Given the description of an element on the screen output the (x, y) to click on. 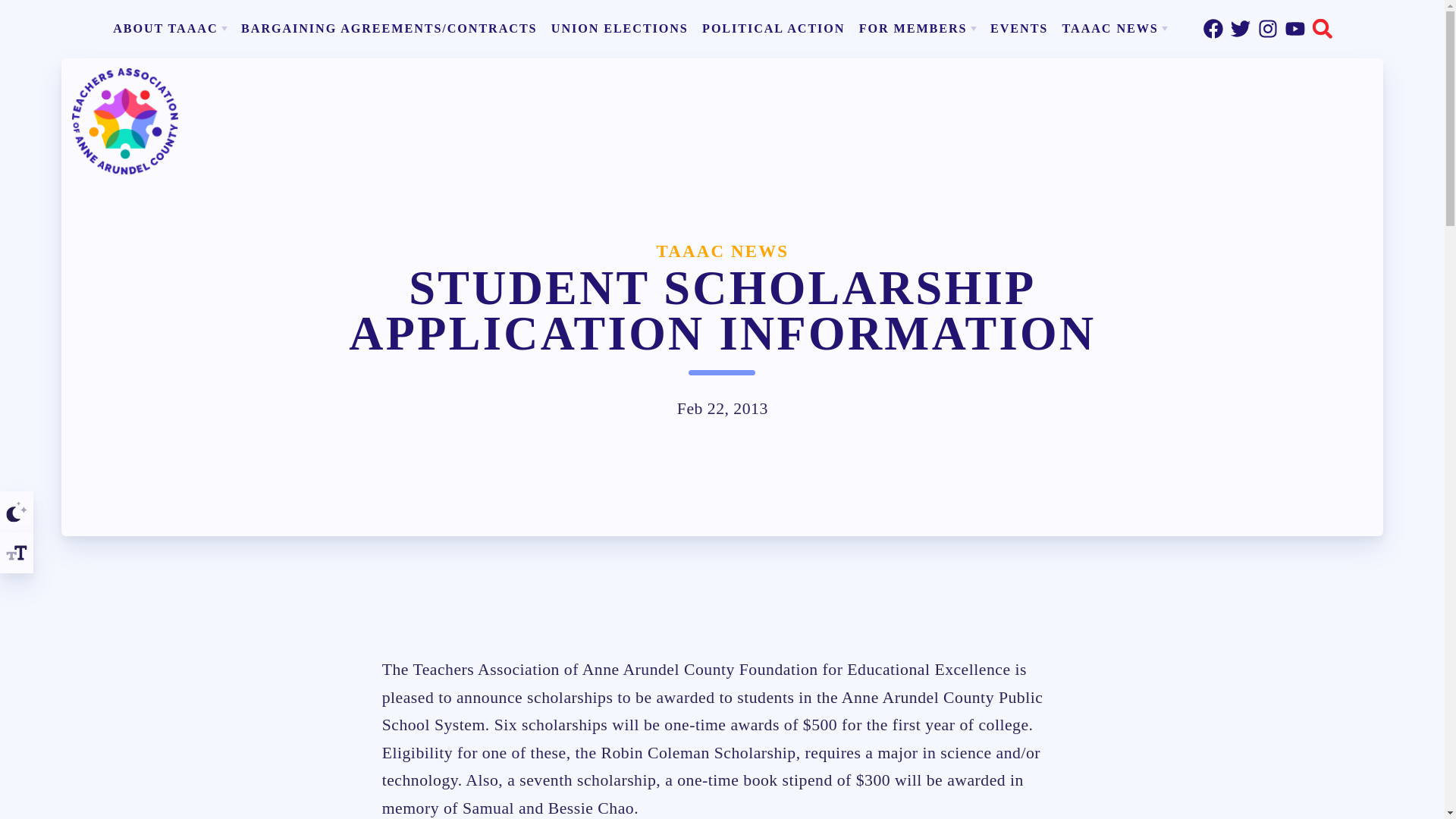
UNION ELECTIONS (619, 28)
TAAAC NEWS (1115, 28)
EVENTS (1019, 28)
ABOUT TAAAC (170, 28)
FOR MEMBERS (916, 28)
POLITICAL ACTION (773, 28)
